Given the description of an element on the screen output the (x, y) to click on. 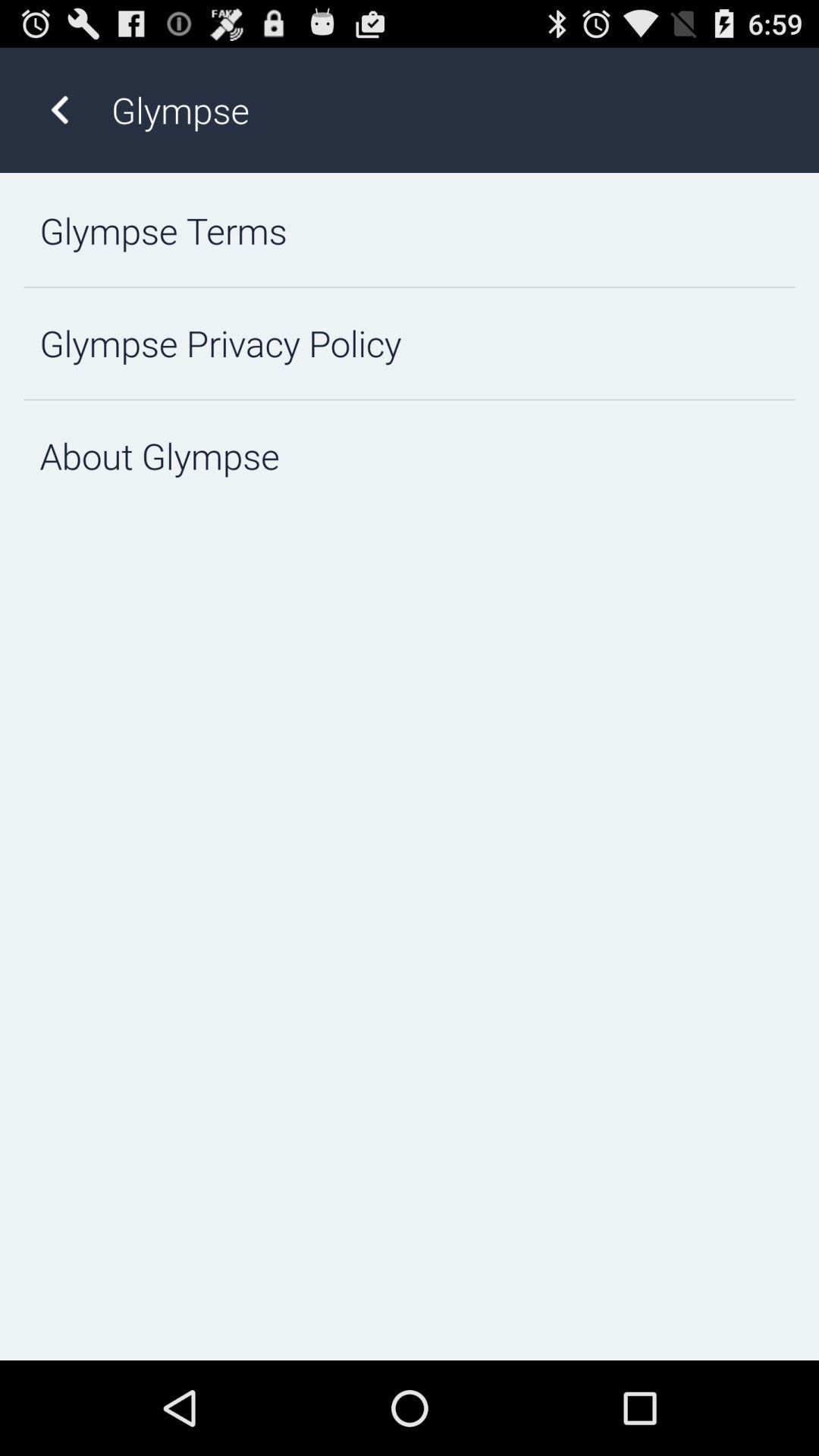
choose the about glympse (409, 455)
